Given the description of an element on the screen output the (x, y) to click on. 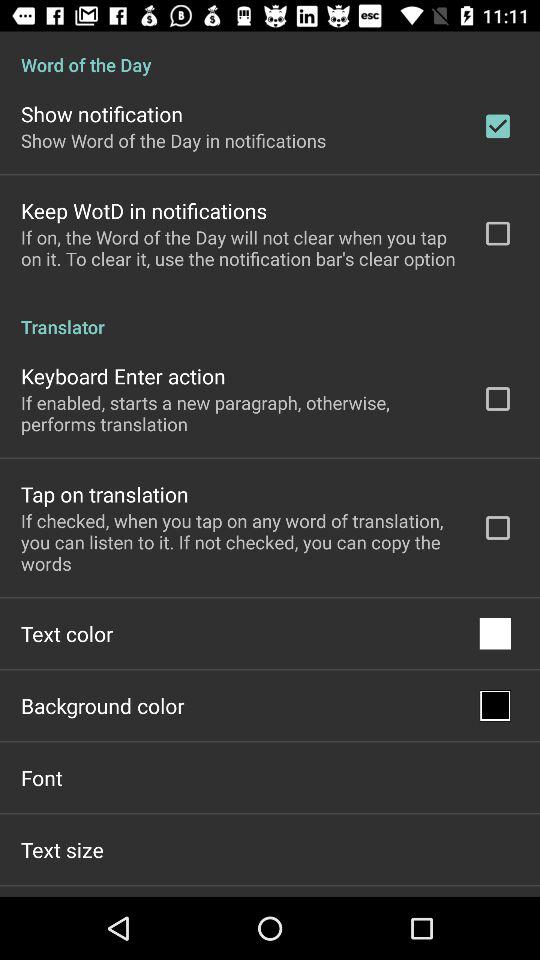
select the text size icon (62, 849)
